Given the description of an element on the screen output the (x, y) to click on. 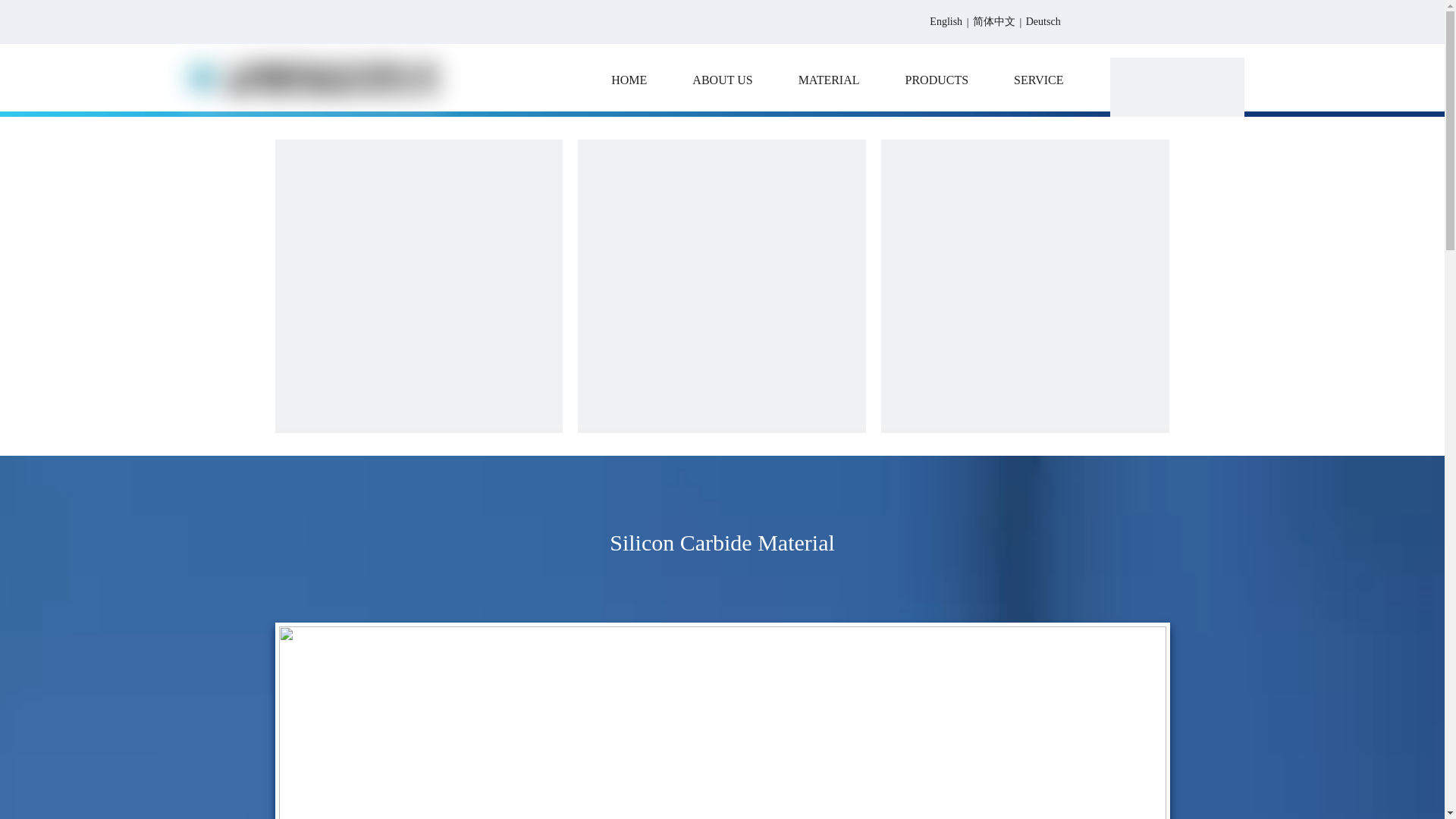
ABOUT US (722, 80)
PRODUCTS (936, 80)
English (946, 22)
Deutsch (1043, 22)
MATERIAL (829, 80)
SERVICE (1038, 80)
HOME (628, 80)
